Given the description of an element on the screen output the (x, y) to click on. 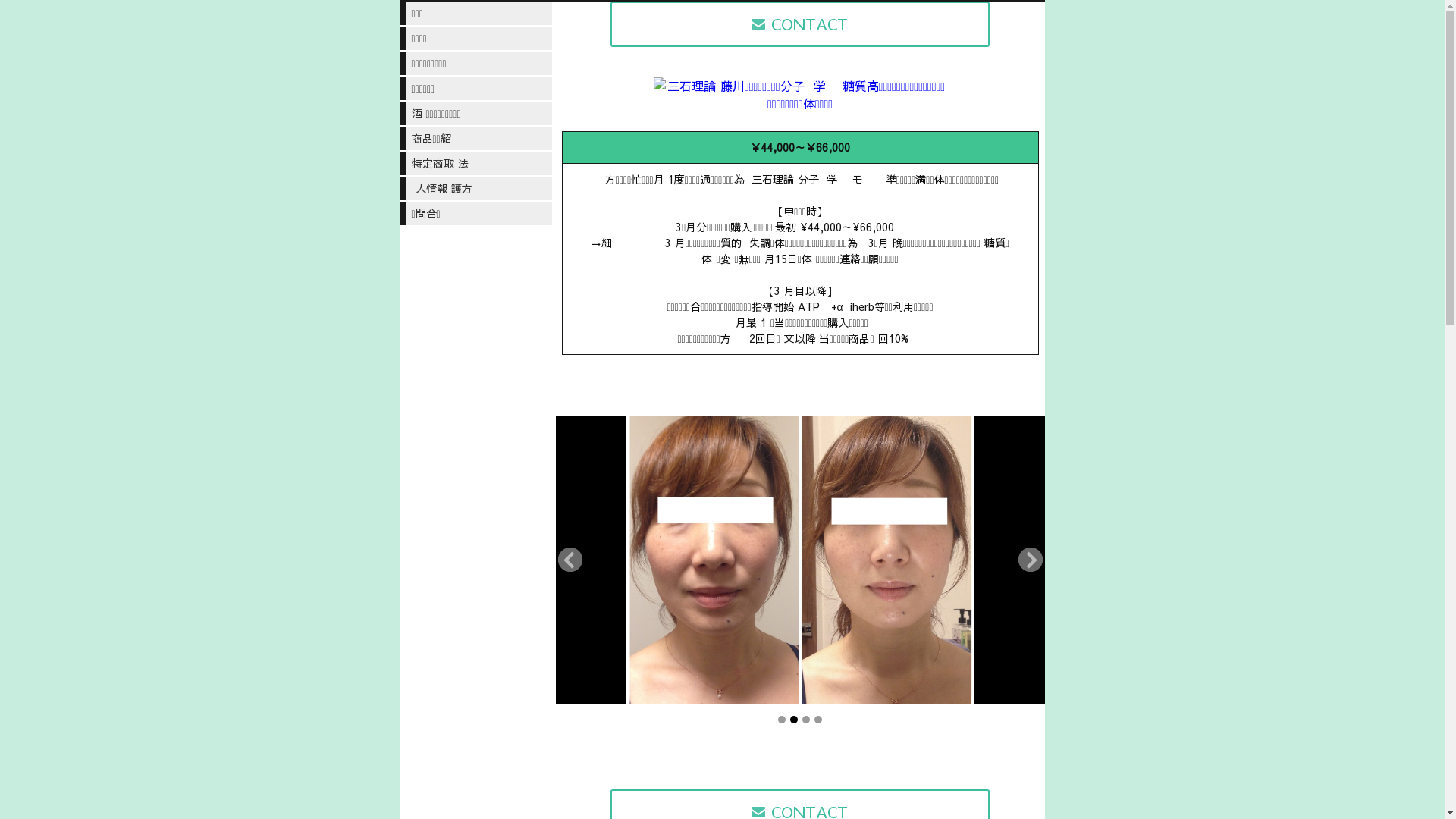
4 Element type: text (818, 719)
CONTACT Element type: text (799, 24)
3 Element type: text (805, 719)
2 Element type: text (793, 719)
1 Element type: text (781, 719)
